Given the description of an element on the screen output the (x, y) to click on. 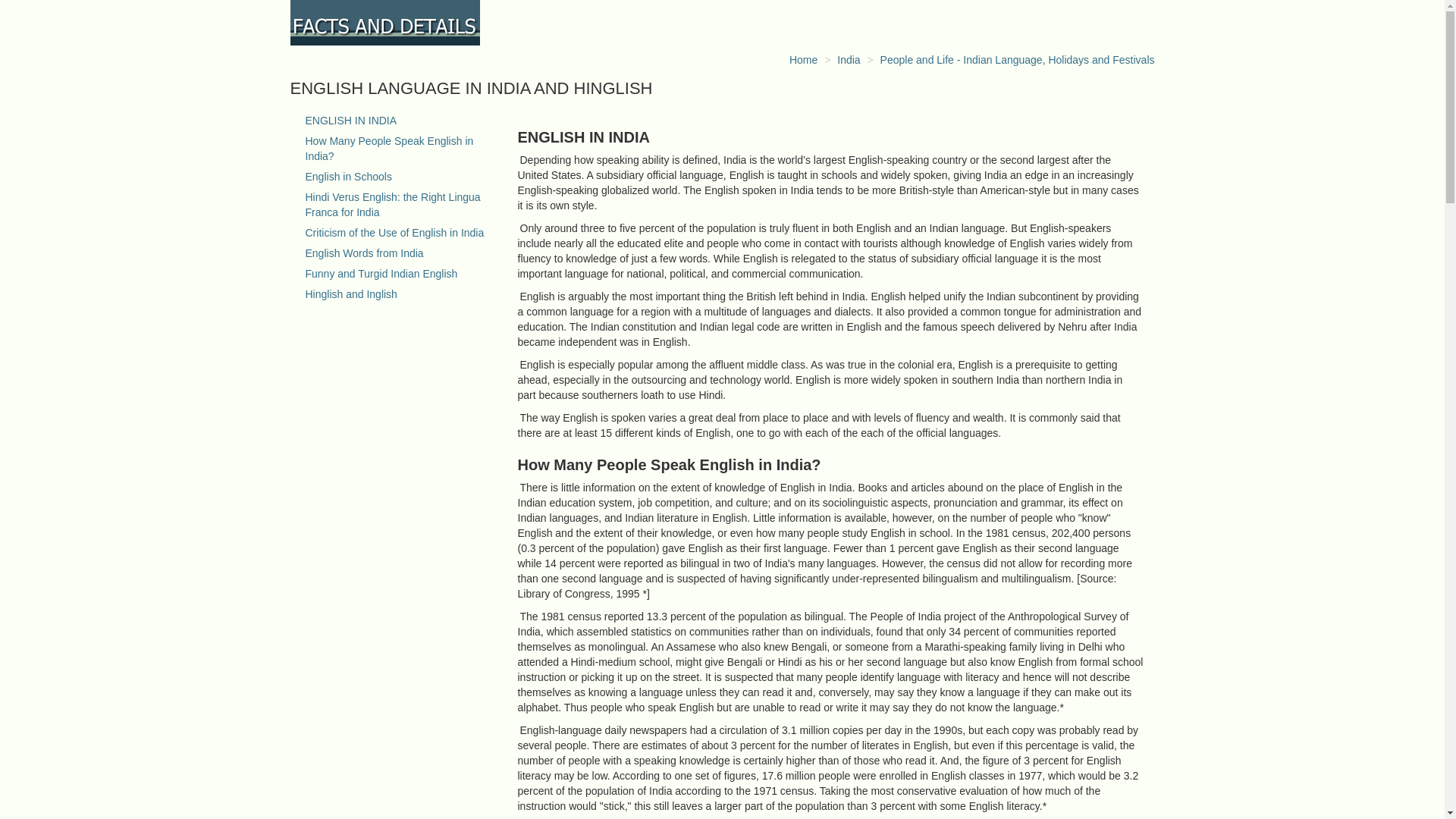
English Words from India (363, 253)
How Many People Speak English in India? (388, 148)
Home (802, 60)
English in Schools (347, 176)
Hindi Verus English: the Right Lingua Franca for India (392, 204)
ENGLISH IN INDIA (350, 120)
People and Life - Indian Language, Holidays and Festivals (1017, 60)
India (848, 60)
Hinglish and Inglish (350, 294)
Criticism of the Use of English in India (393, 232)
Funny and Turgid Indian English (380, 273)
